Given the description of an element on the screen output the (x, y) to click on. 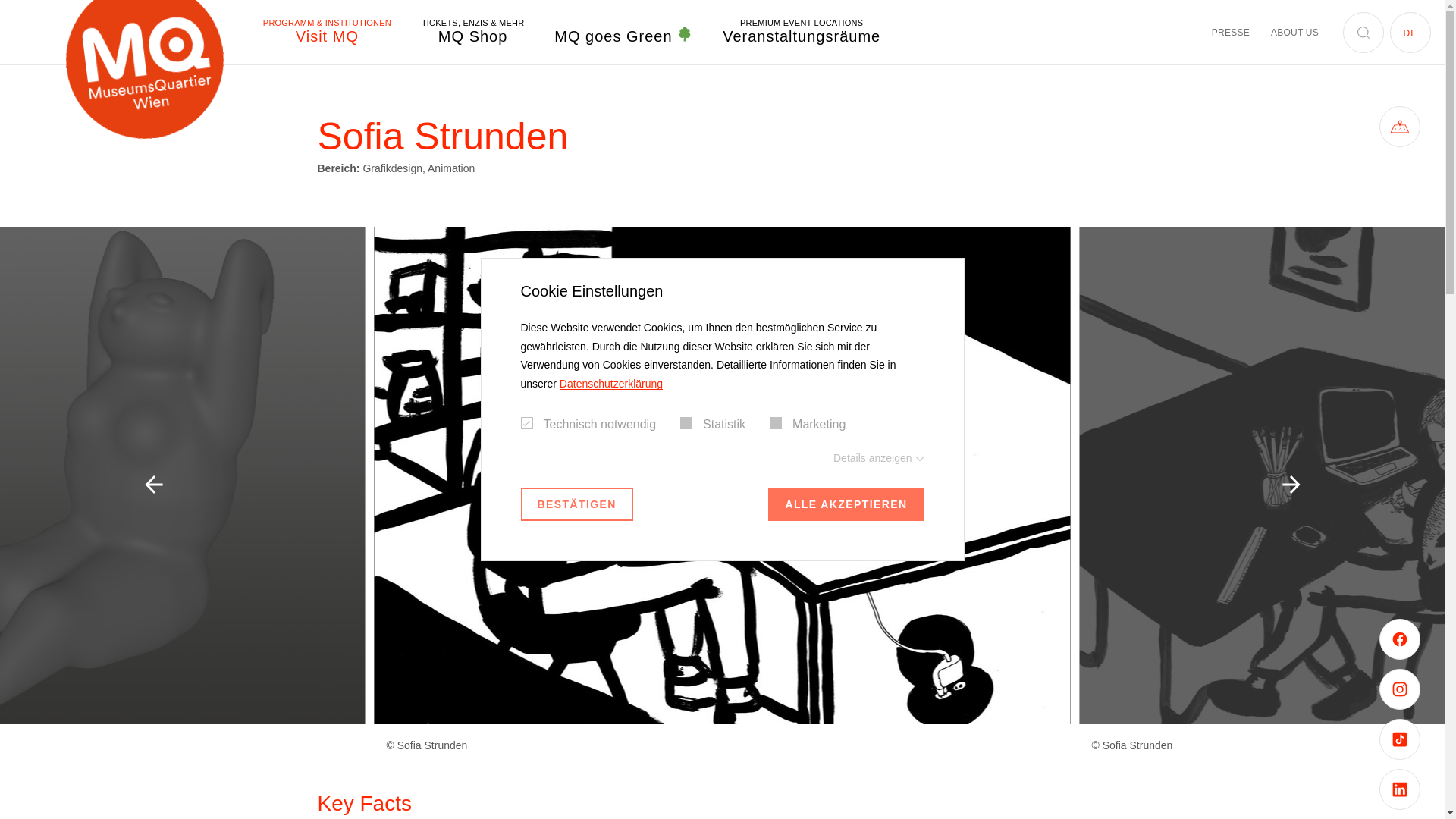
MQ Map (1399, 126)
MQ goes Green (623, 35)
